Given the description of an element on the screen output the (x, y) to click on. 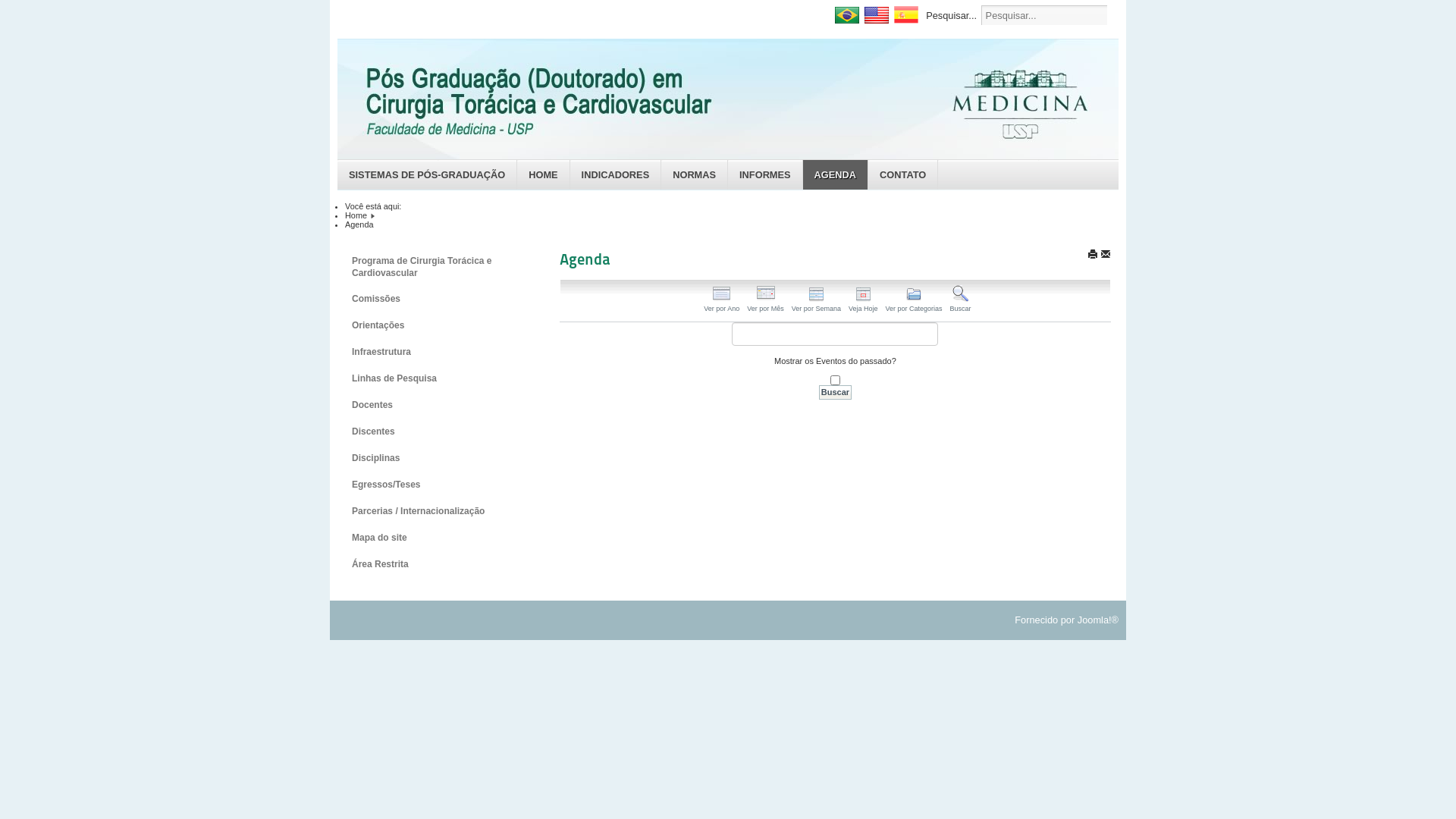
Buscar Element type: text (835, 392)
Imprimir Element type: hover (1092, 253)
Ver por Semana Element type: text (815, 300)
EMAIL Element type: hover (1105, 253)
Disciplinas Element type: text (432, 457)
CONTATO Element type: text (903, 174)
Discentes Element type: text (432, 431)
Mapa do site Element type: text (432, 537)
Ver por Categorias Element type: text (912, 300)
Infraestrutura Element type: text (432, 351)
AGENDA Element type: text (835, 174)
INDICADORES Element type: text (616, 174)
Egressos/Teses Element type: text (432, 484)
Veja Hoje Element type: text (863, 300)
Docentes Element type: text (432, 404)
Ver por Ano Element type: text (721, 300)
Home Element type: text (356, 214)
INFORMES Element type: text (765, 174)
Linhas de Pesquisa Element type: text (432, 378)
HOME Element type: text (543, 174)
Buscar Element type: text (959, 300)
NORMAS Element type: text (694, 174)
